Given the description of an element on the screen output the (x, y) to click on. 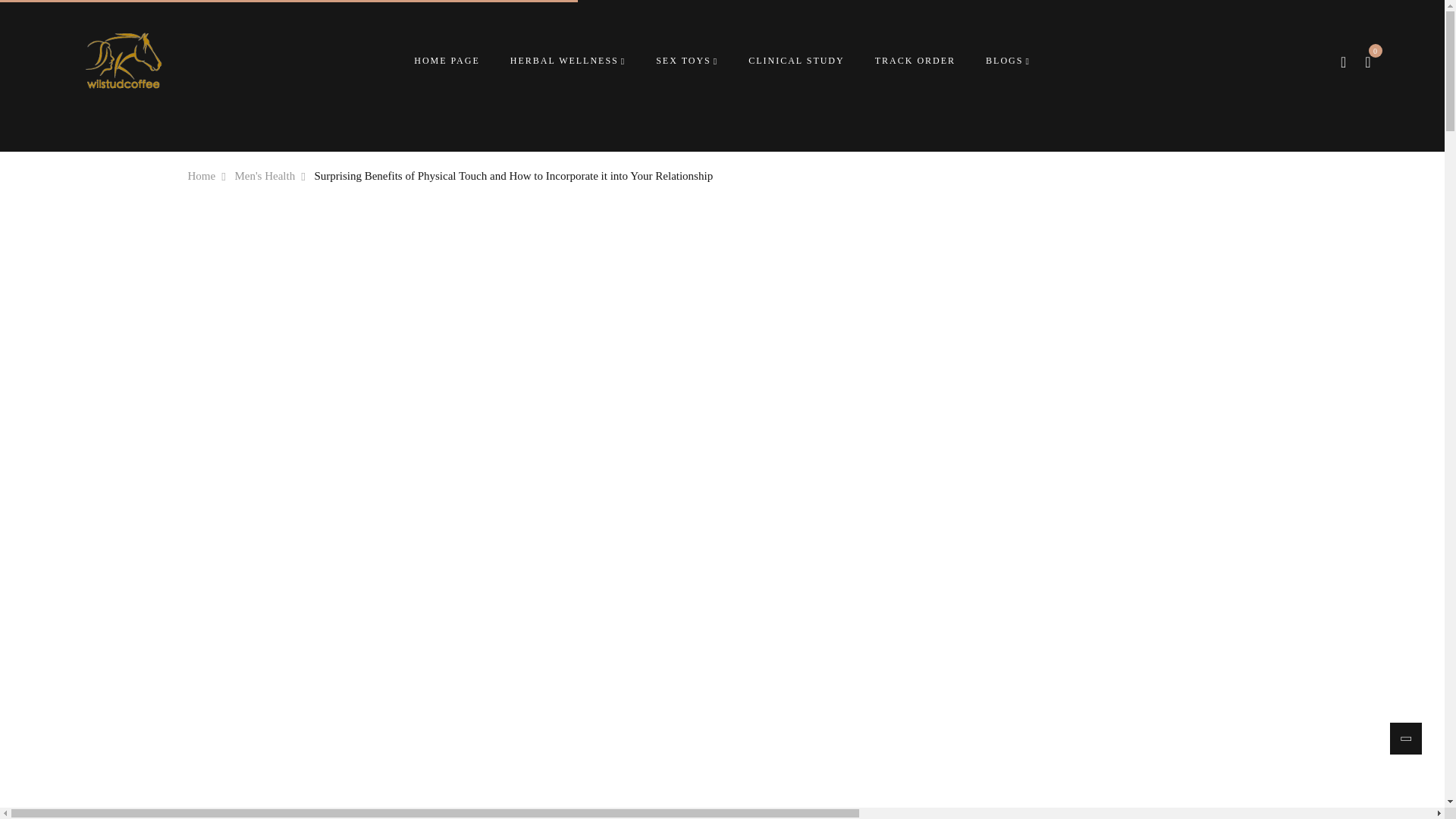
SEX TOYS (686, 60)
Home (201, 175)
BLOGS (1007, 60)
CLINICAL STUDY (796, 60)
HERBAL WELLNESS (568, 60)
TRACK ORDER (915, 60)
HOME PAGE (446, 60)
